Given the description of an element on the screen output the (x, y) to click on. 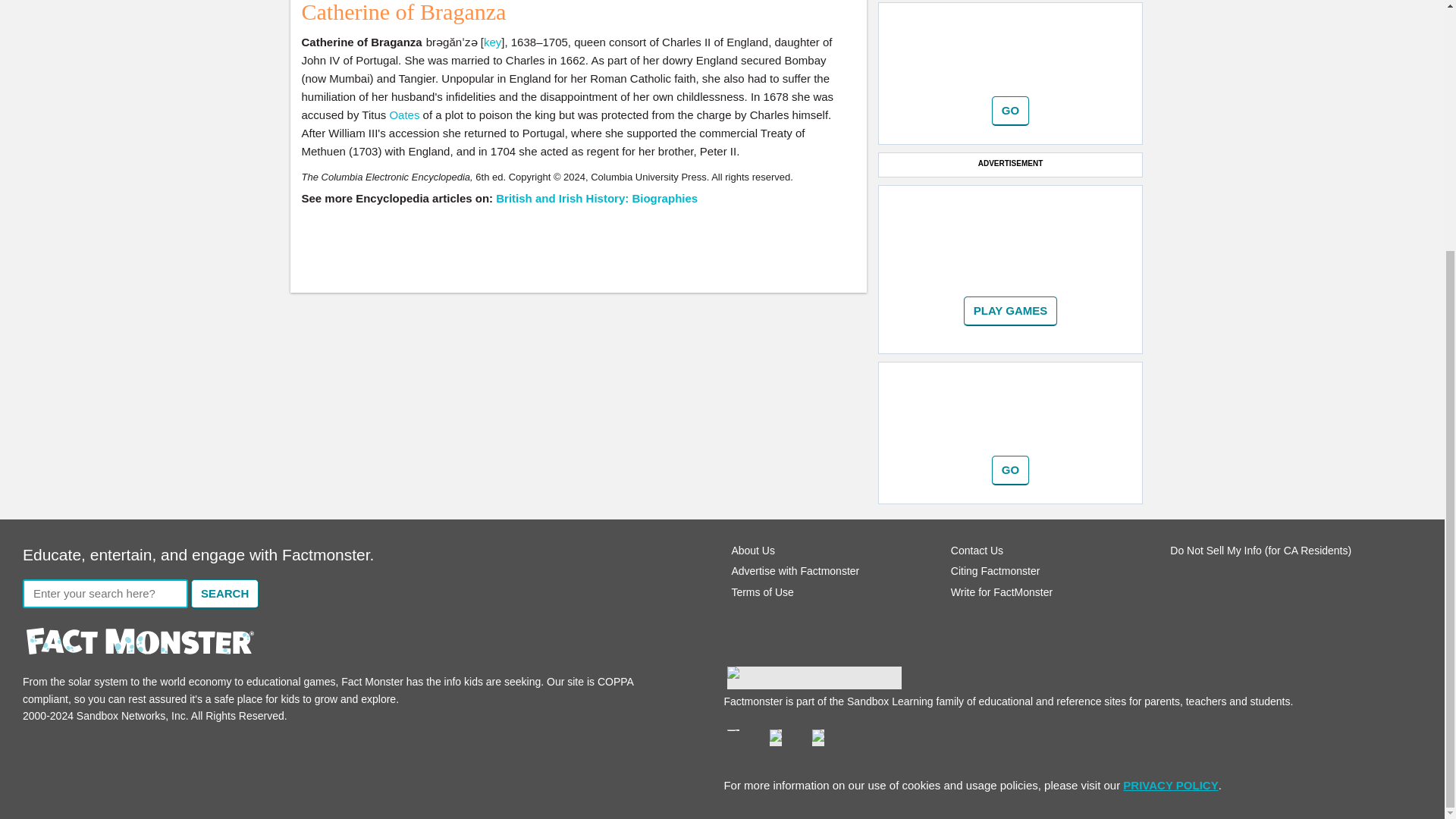
Search (224, 594)
Go (1010, 470)
Go (1010, 470)
About Us (752, 550)
Go (1010, 111)
Go (1010, 111)
Go (1010, 310)
Play Games (1010, 310)
